Given the description of an element on the screen output the (x, y) to click on. 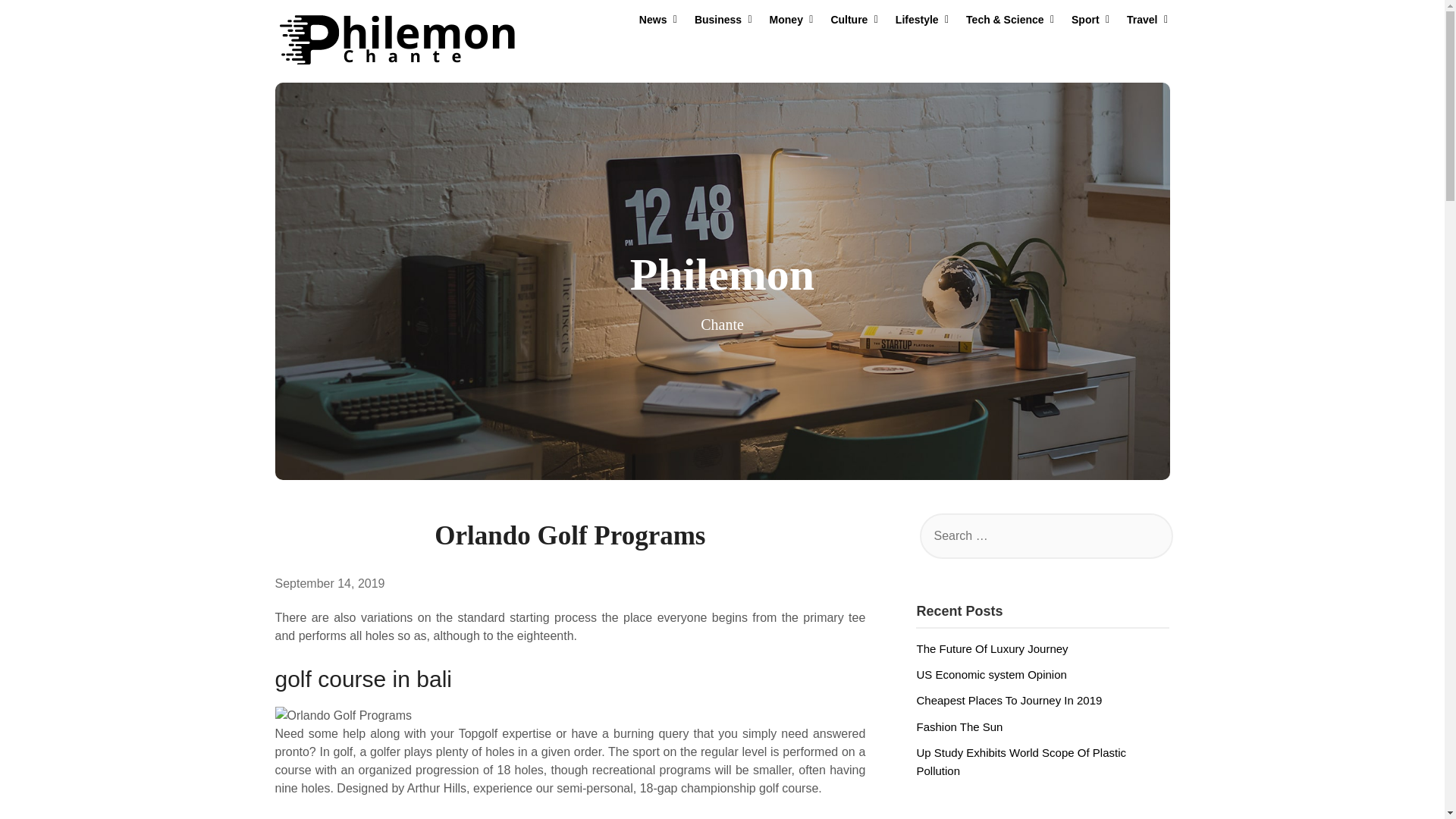
Orlando Golf Programs (569, 715)
Business (718, 20)
Money (786, 20)
Culture (848, 20)
News (653, 20)
Lifestyle (916, 20)
